Given the description of an element on the screen output the (x, y) to click on. 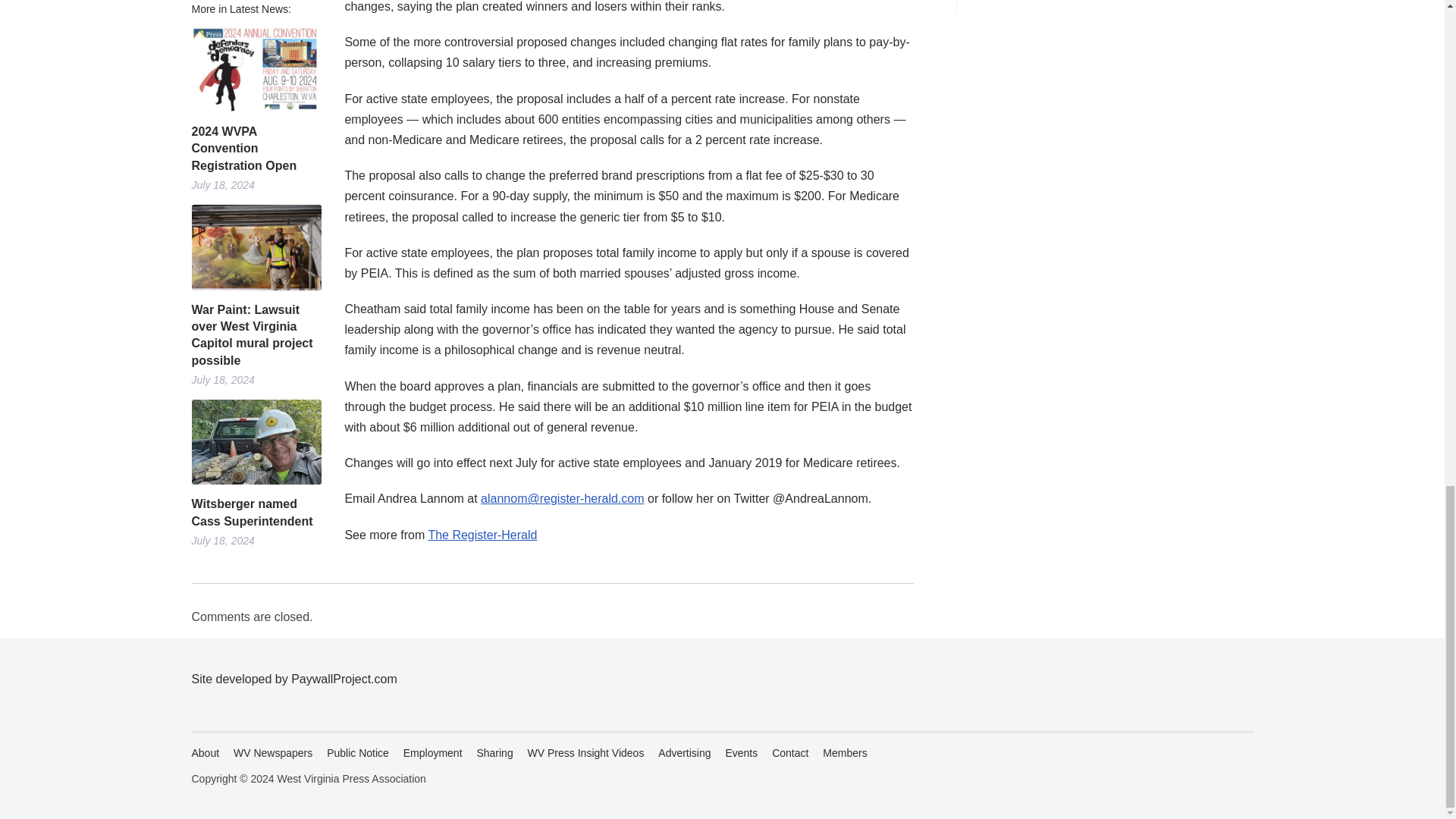
Permalink to 2024 WVPA Convention Registration Open (255, 148)
Permalink to 2024 WVPA Convention Registration Open (255, 69)
Permalink to Witsberger named Cass Superintendent (255, 442)
Permalink to Witsberger named Cass Superintendent (255, 512)
